Given the description of an element on the screen output the (x, y) to click on. 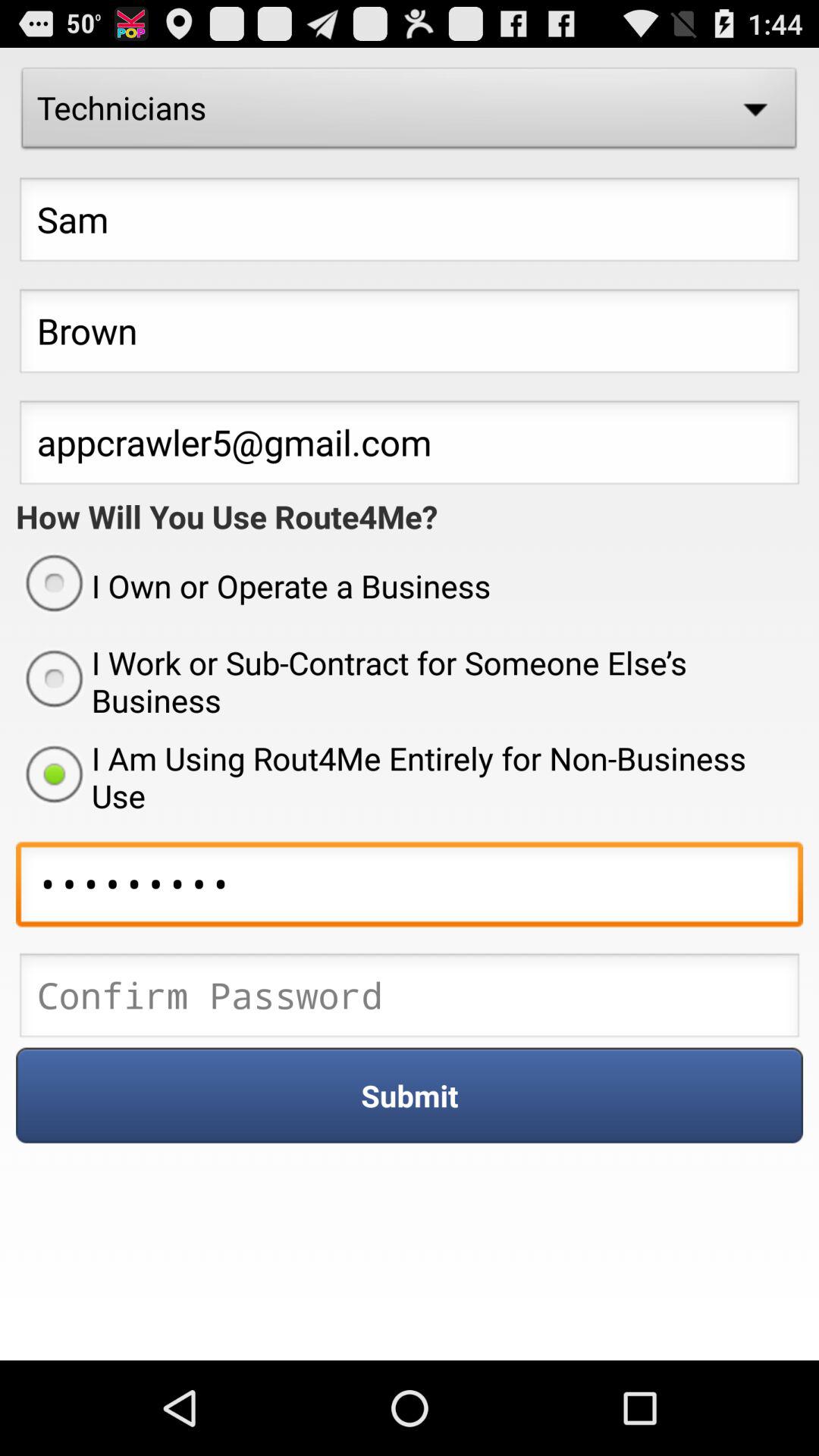
ender the password box (409, 999)
